Given the description of an element on the screen output the (x, y) to click on. 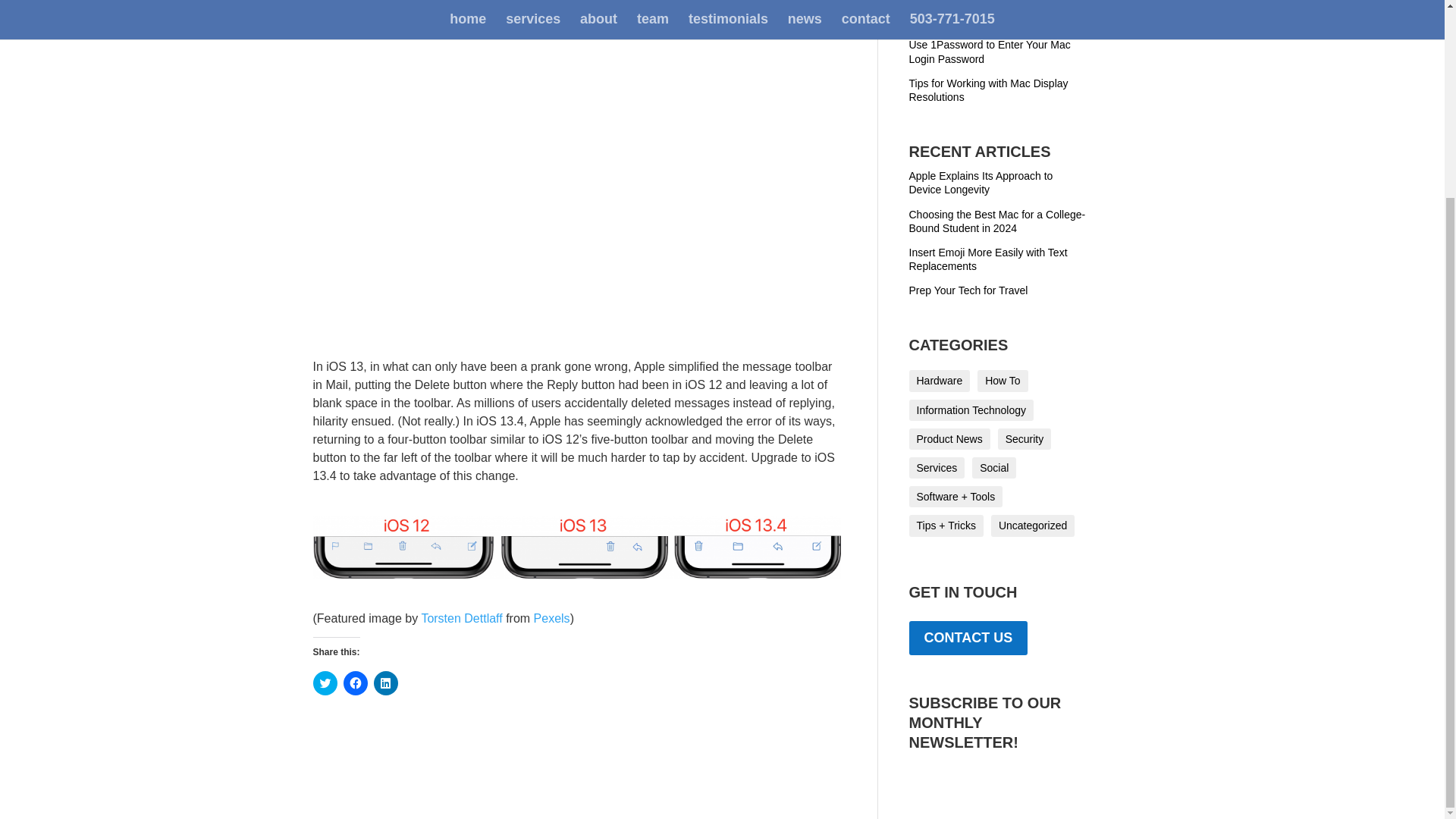
Apple Explains Its Approach to Device Longevity (980, 182)
Services (935, 467)
Security (1024, 438)
Uncategorized (1032, 525)
Use 1Password to Enter Your Mac Login Password (989, 51)
Choosing the Best Mac for a College-Bound Student in 2024 (996, 221)
Product News (949, 438)
Six Reasons Why You Should Restart Your Mac Periodically (997, 13)
Social (994, 467)
Tips for Working with Mac Display Resolutions (987, 89)
